Given the description of an element on the screen output the (x, y) to click on. 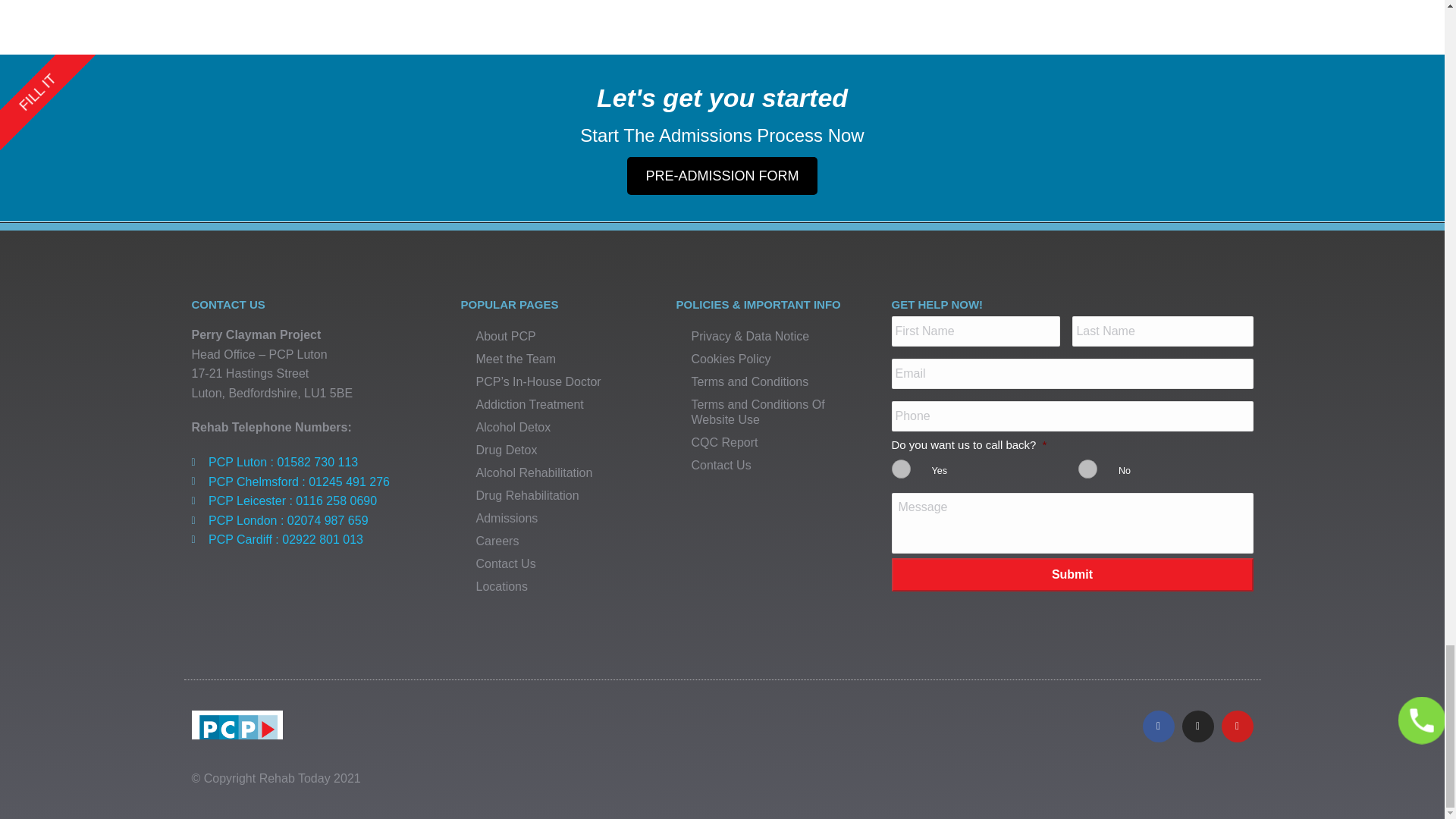
Yes (901, 468)
No (1087, 468)
Submit (1072, 574)
